Given the description of an element on the screen output the (x, y) to click on. 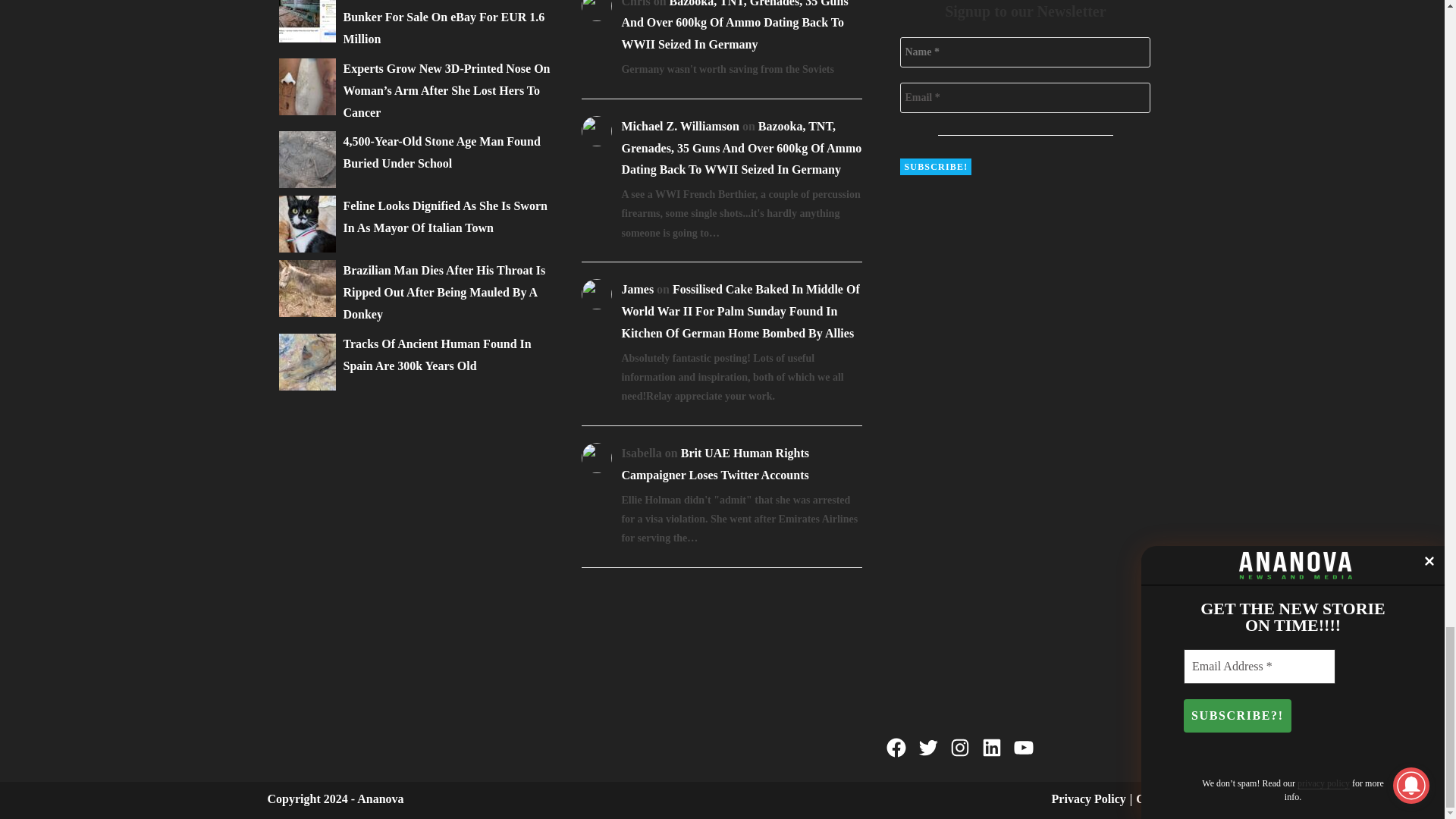
Email (1024, 97)
Subscribe! (935, 166)
Name (1024, 51)
